Given the description of an element on the screen output the (x, y) to click on. 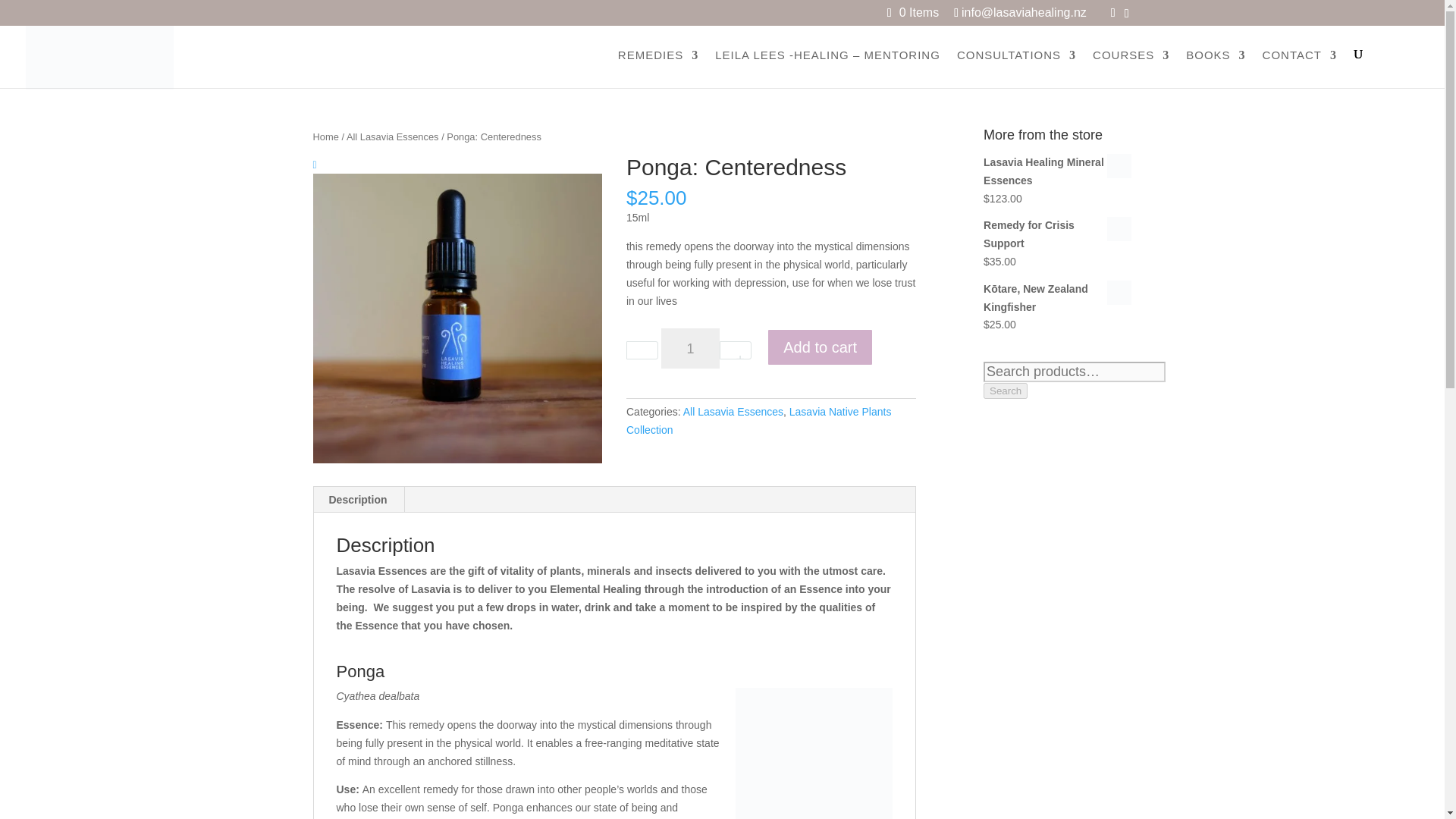
1 (690, 348)
CONSULTATIONS (1015, 67)
DSCF0015 (457, 318)
Qty (690, 348)
0 Items (919, 11)
REMEDIES (657, 67)
COURSES (1131, 67)
CONTACT (1299, 67)
- (642, 350)
BOOKS (1215, 67)
